Given the description of an element on the screen output the (x, y) to click on. 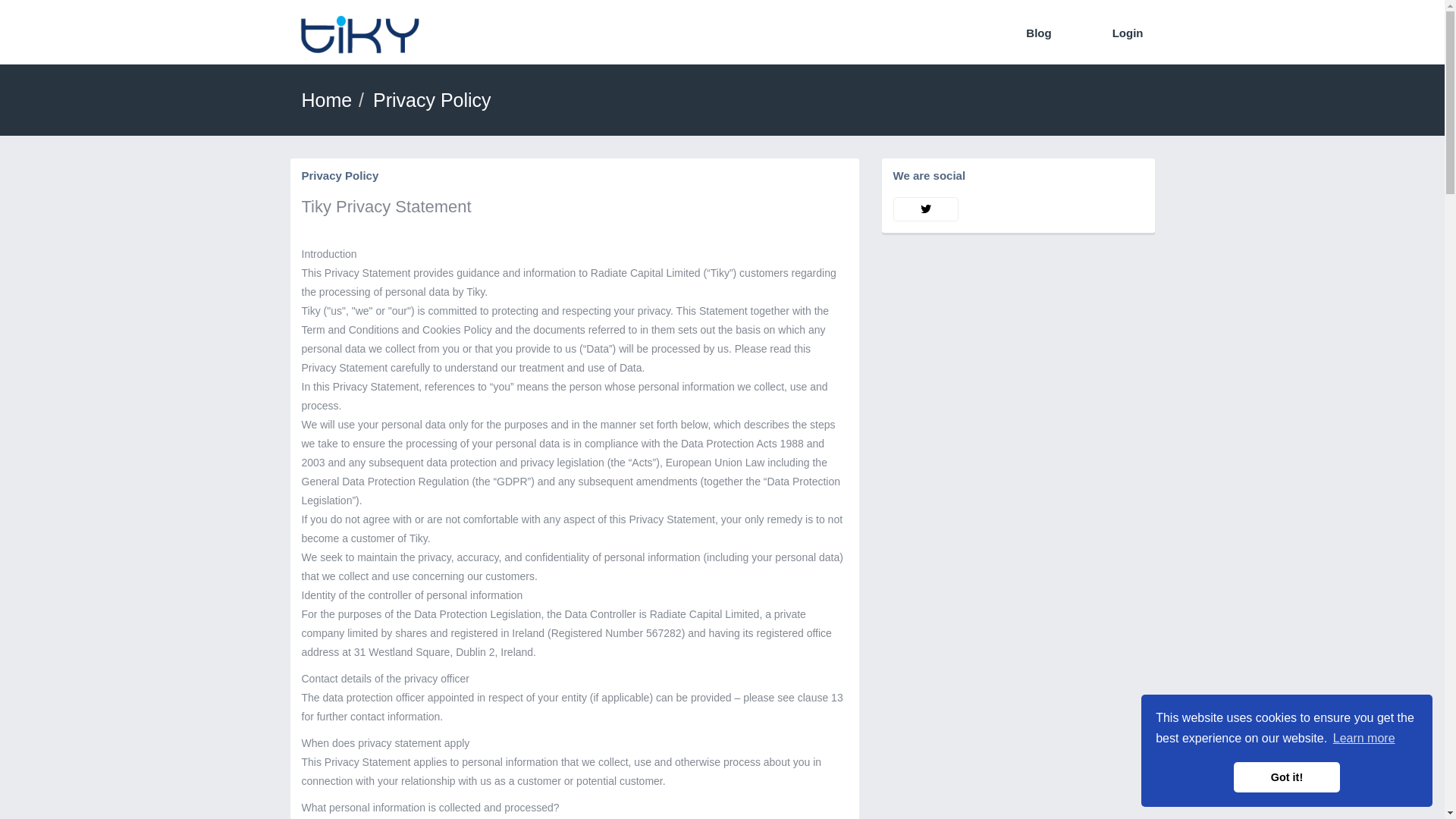
Blog Element type: text (1038, 33)
Login Element type: text (1127, 33)
Home Element type: text (326, 99)
Got it! Element type: text (1286, 777)
Learn more Element type: text (1363, 738)
